Given the description of an element on the screen output the (x, y) to click on. 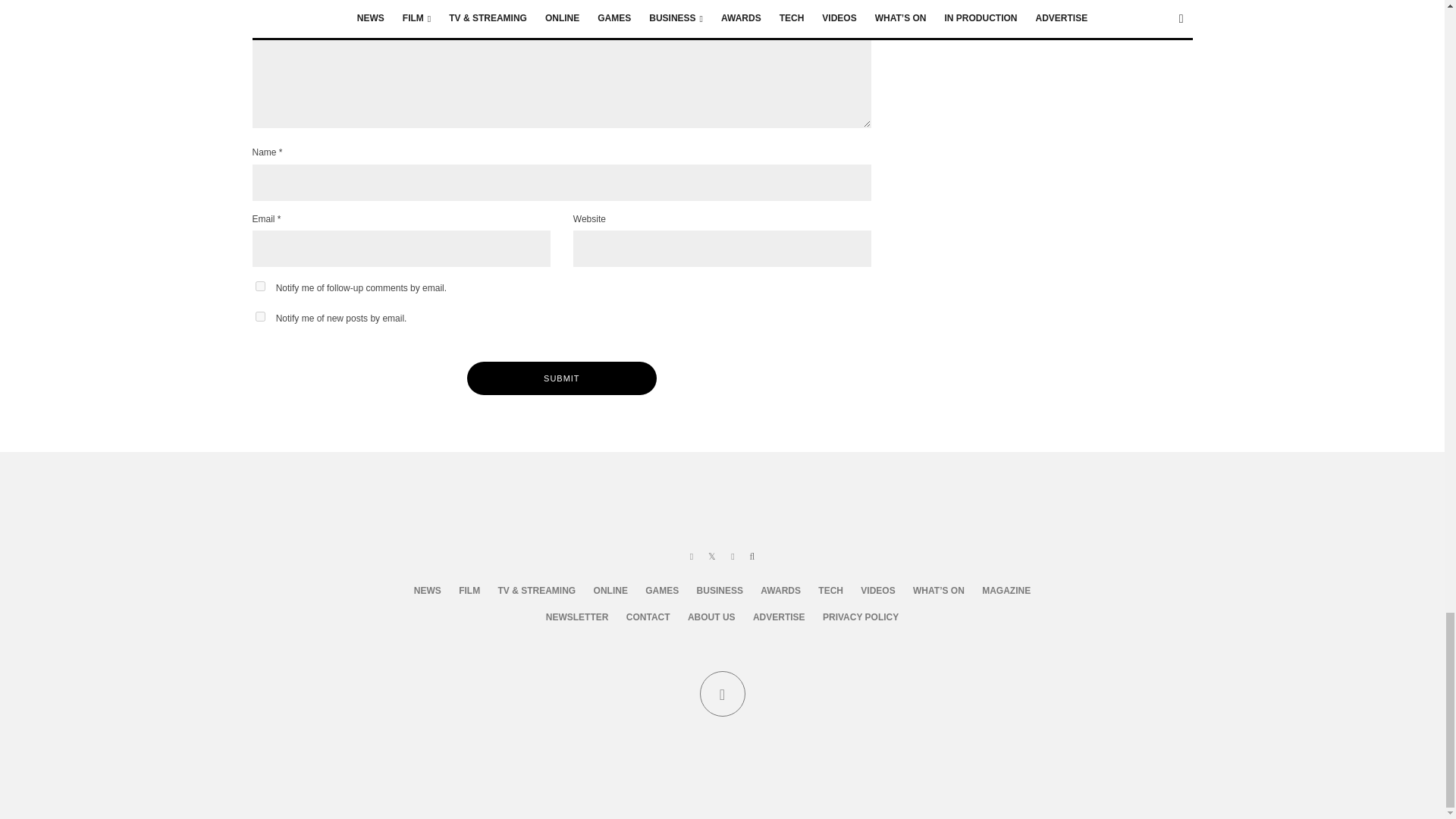
Submit (561, 377)
subscribe (259, 286)
subscribe (259, 316)
